Given the description of an element on the screen output the (x, y) to click on. 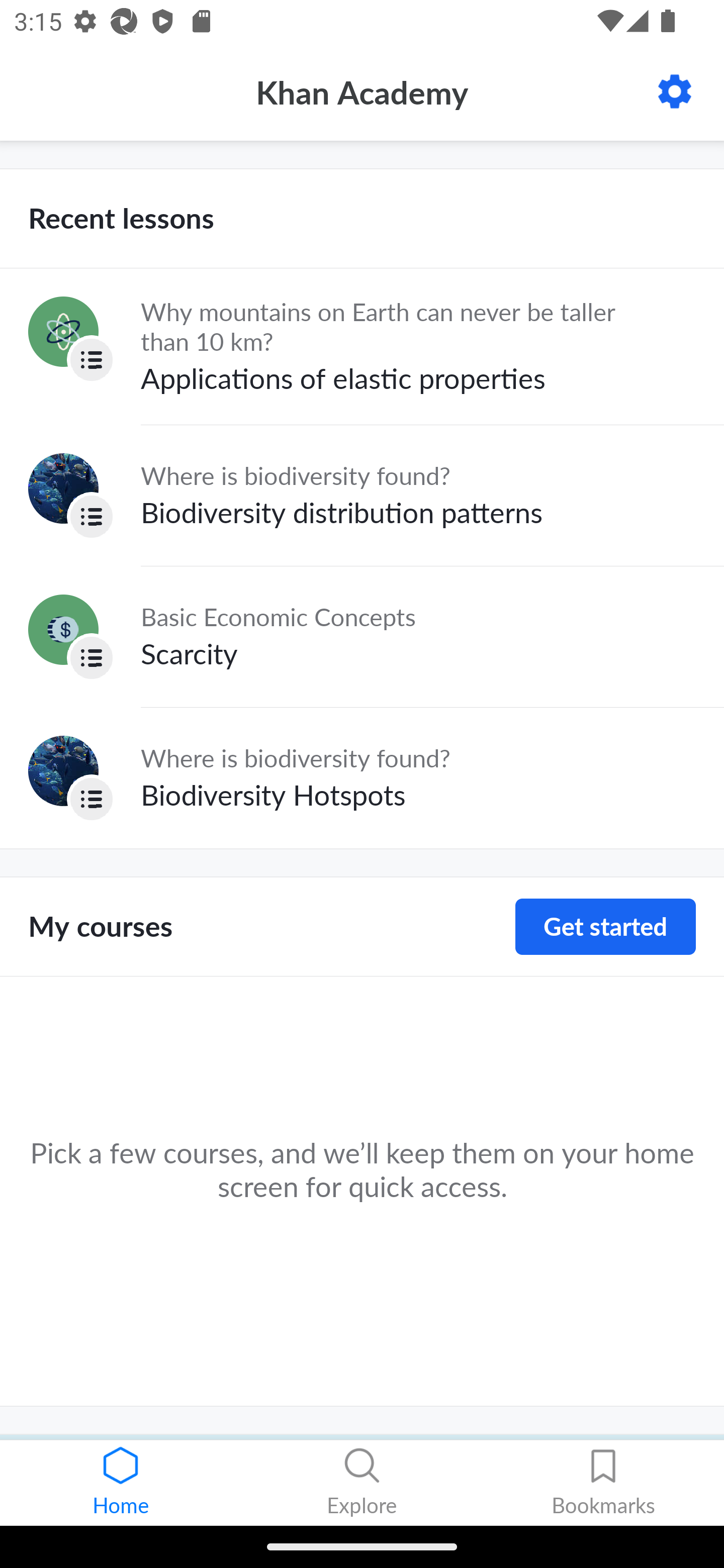
Settings (674, 91)
Lesson Basic Economic Concepts Scarcity (362, 636)
Get started (605, 926)
Home (120, 1482)
Explore (361, 1482)
Bookmarks (603, 1482)
